Given the description of an element on the screen output the (x, y) to click on. 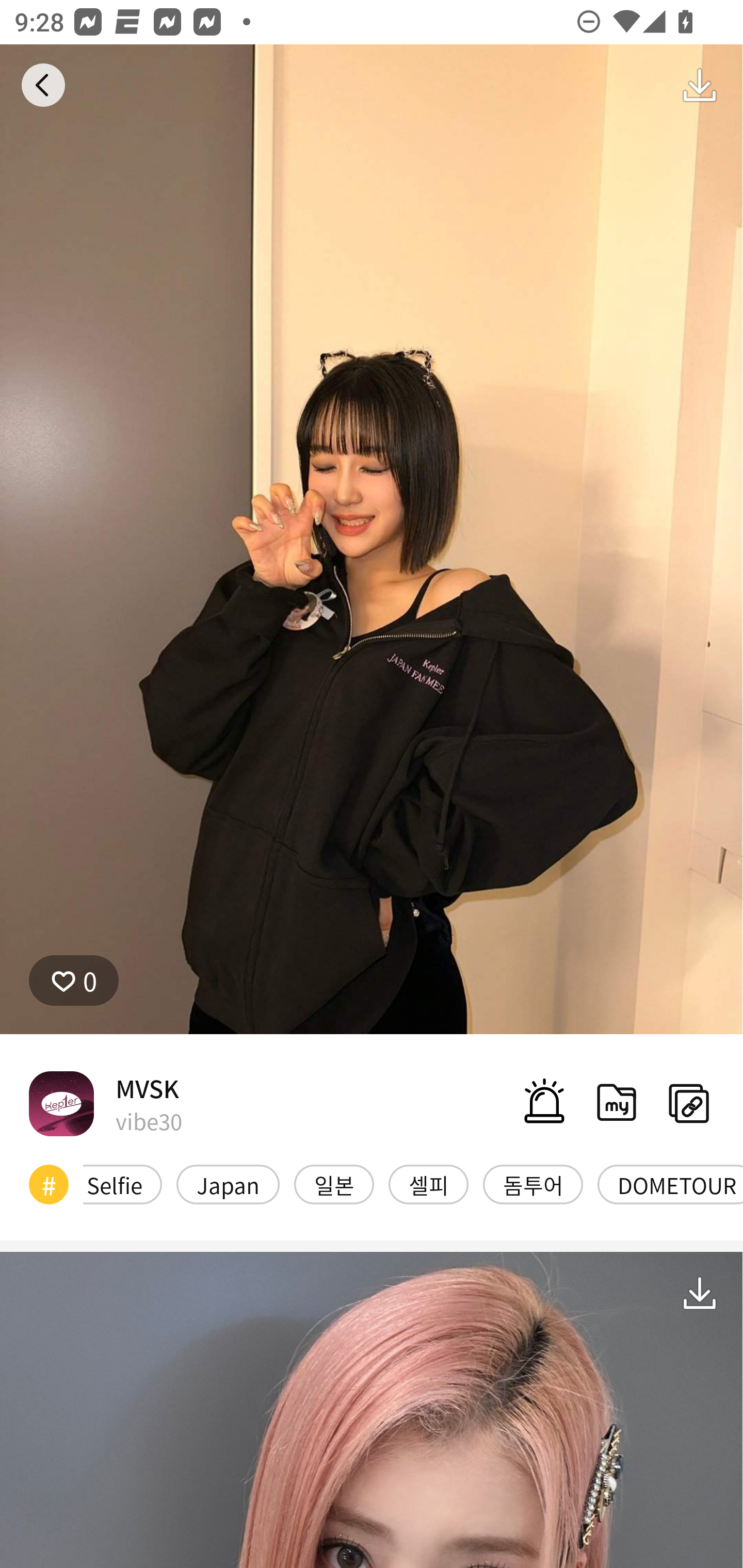
0 (73, 980)
MVSK vibe30 (105, 1102)
Selfie (122, 1184)
Japan (227, 1184)
일본 (333, 1184)
셀피 (428, 1184)
돔투어 (532, 1184)
DOMETOUR (670, 1184)
